Given the description of an element on the screen output the (x, y) to click on. 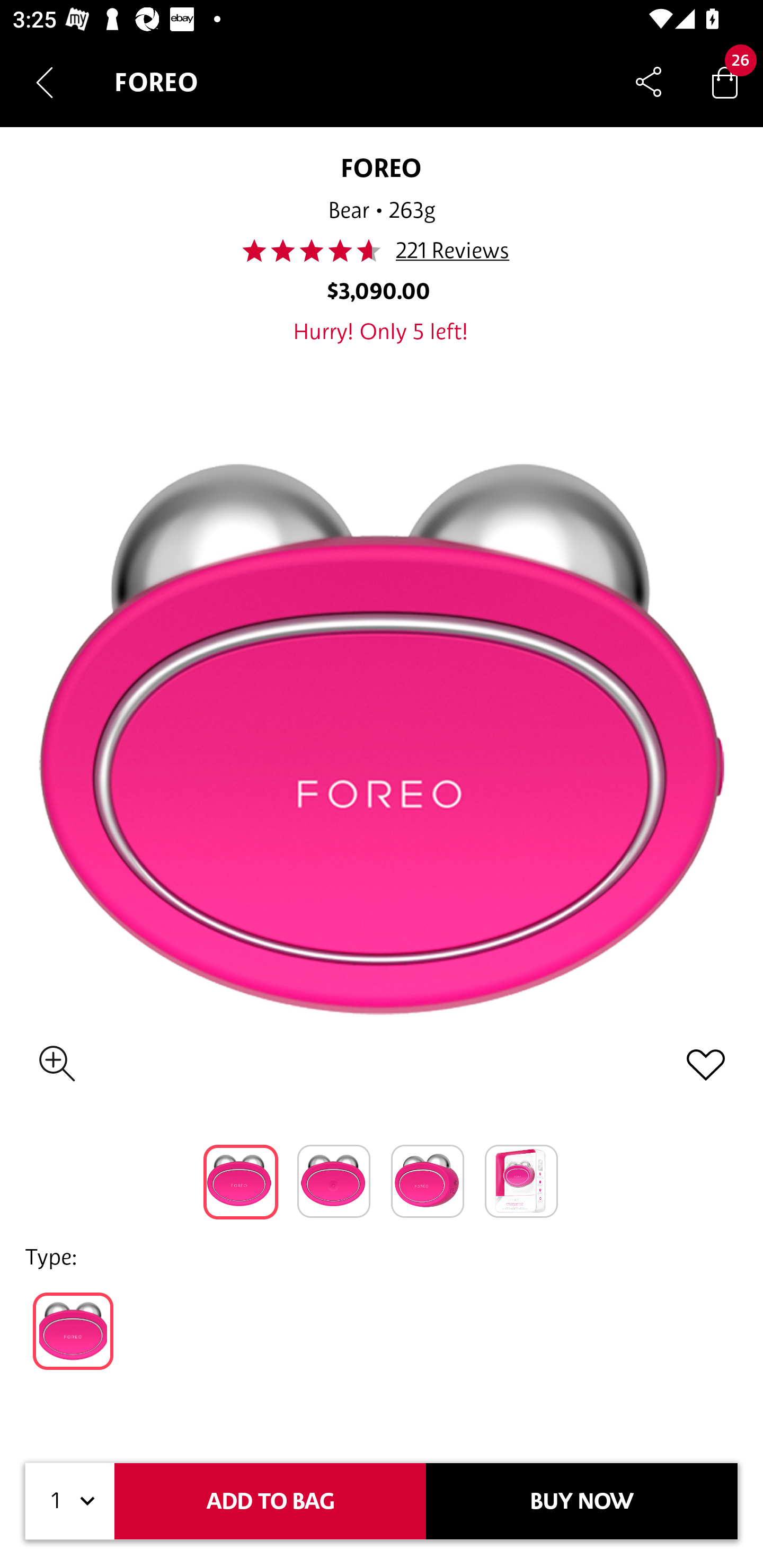
Navigate up (44, 82)
Share (648, 81)
Bag (724, 81)
FOREO (381, 167)
46.0 221 Reviews (381, 250)
1 (69, 1500)
ADD TO BAG (269, 1500)
BUY NOW (581, 1500)
